Given the description of an element on the screen output the (x, y) to click on. 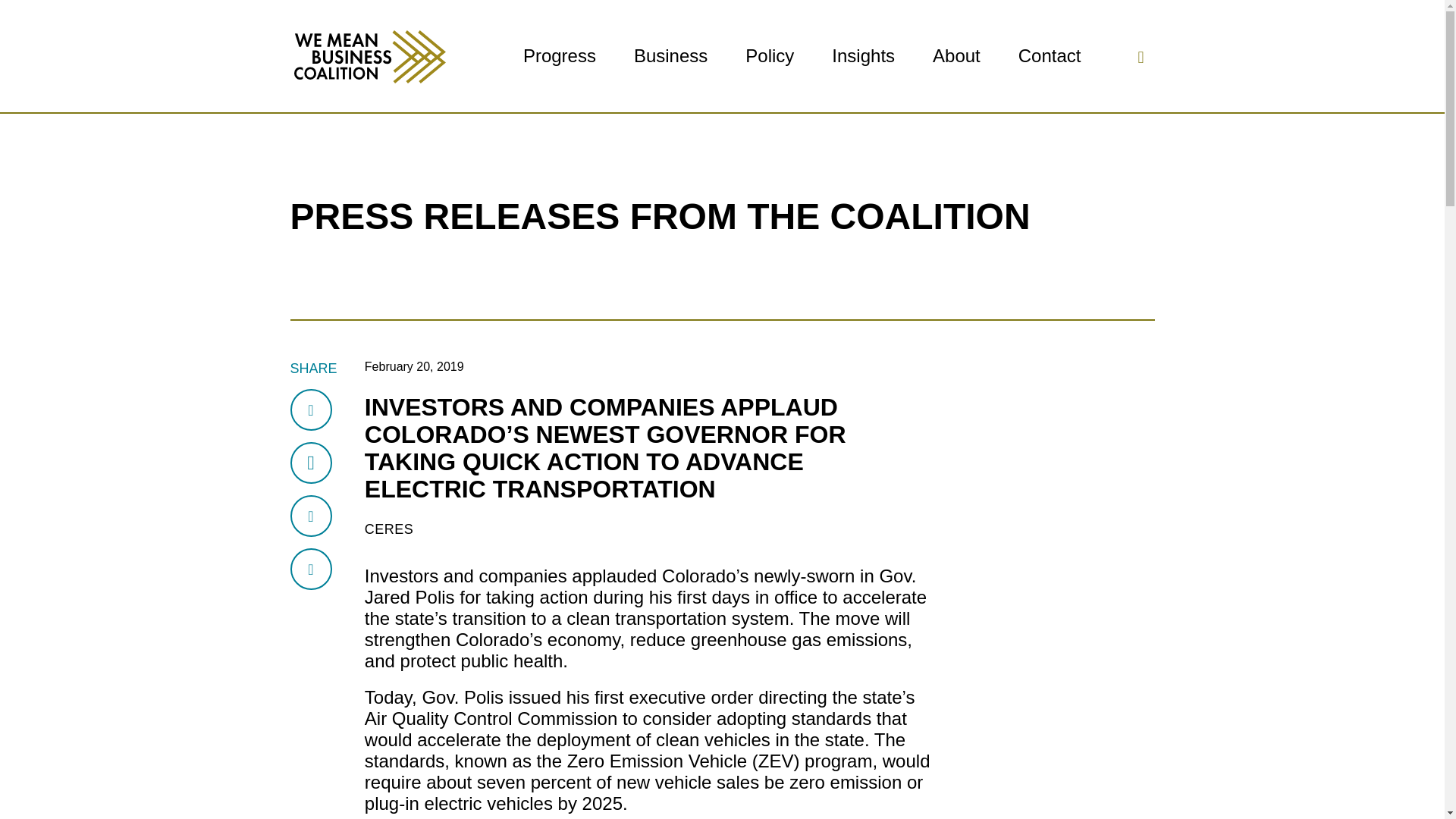
About (956, 55)
Progress (558, 55)
Business (670, 55)
Policy (769, 55)
Progress (558, 55)
Insights (863, 55)
Business (670, 55)
Policy (769, 55)
Insights (863, 55)
Contact (1049, 55)
